Given the description of an element on the screen output the (x, y) to click on. 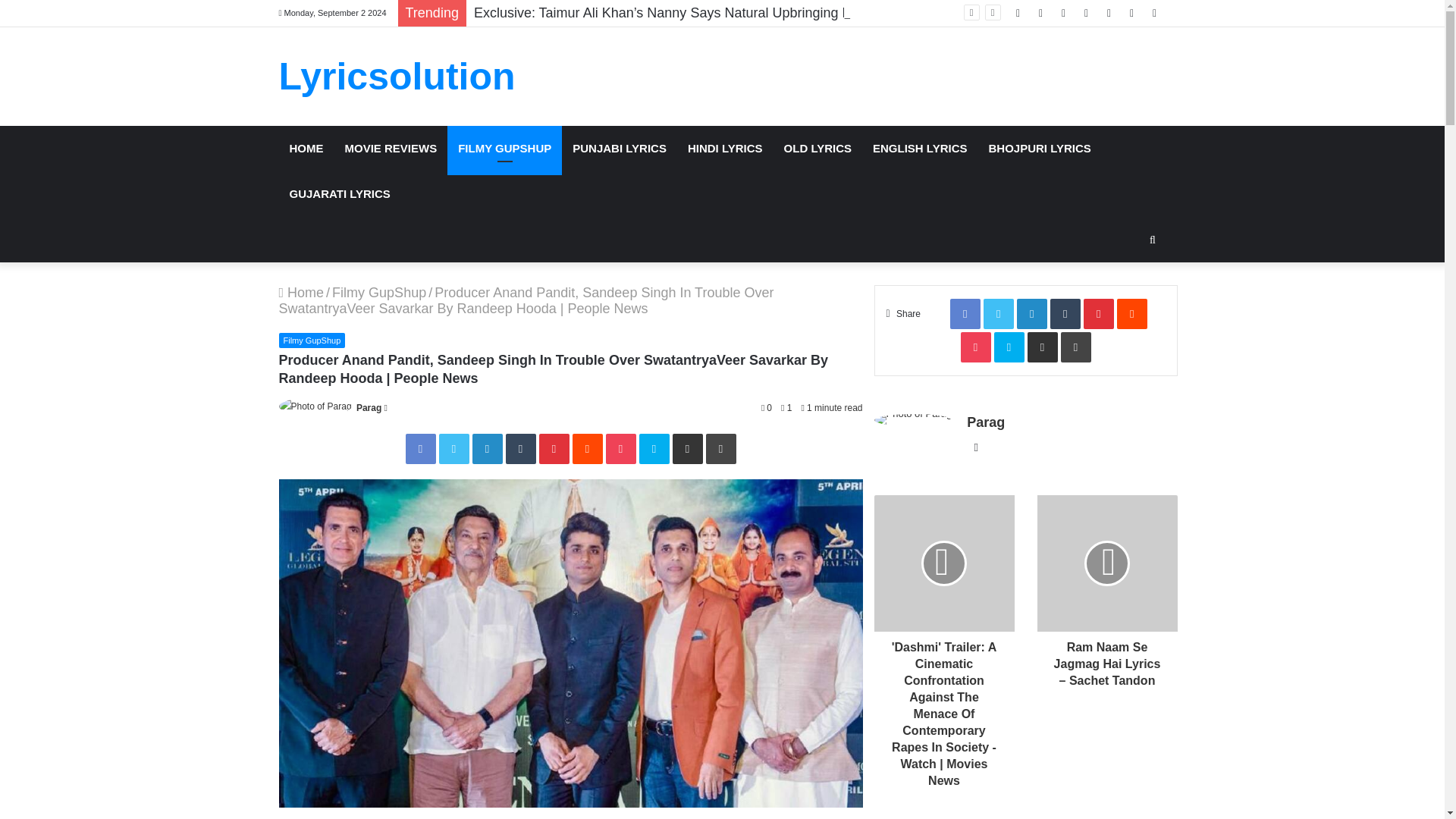
HOME (306, 148)
PUNJABI LYRICS (619, 148)
HINDI LYRICS (725, 148)
Share via Email (686, 449)
Print (719, 449)
Twitter (453, 449)
GUJARATI LYRICS (340, 194)
Reddit (587, 449)
Lyricsolution (397, 76)
Home (301, 292)
